Given the description of an element on the screen output the (x, y) to click on. 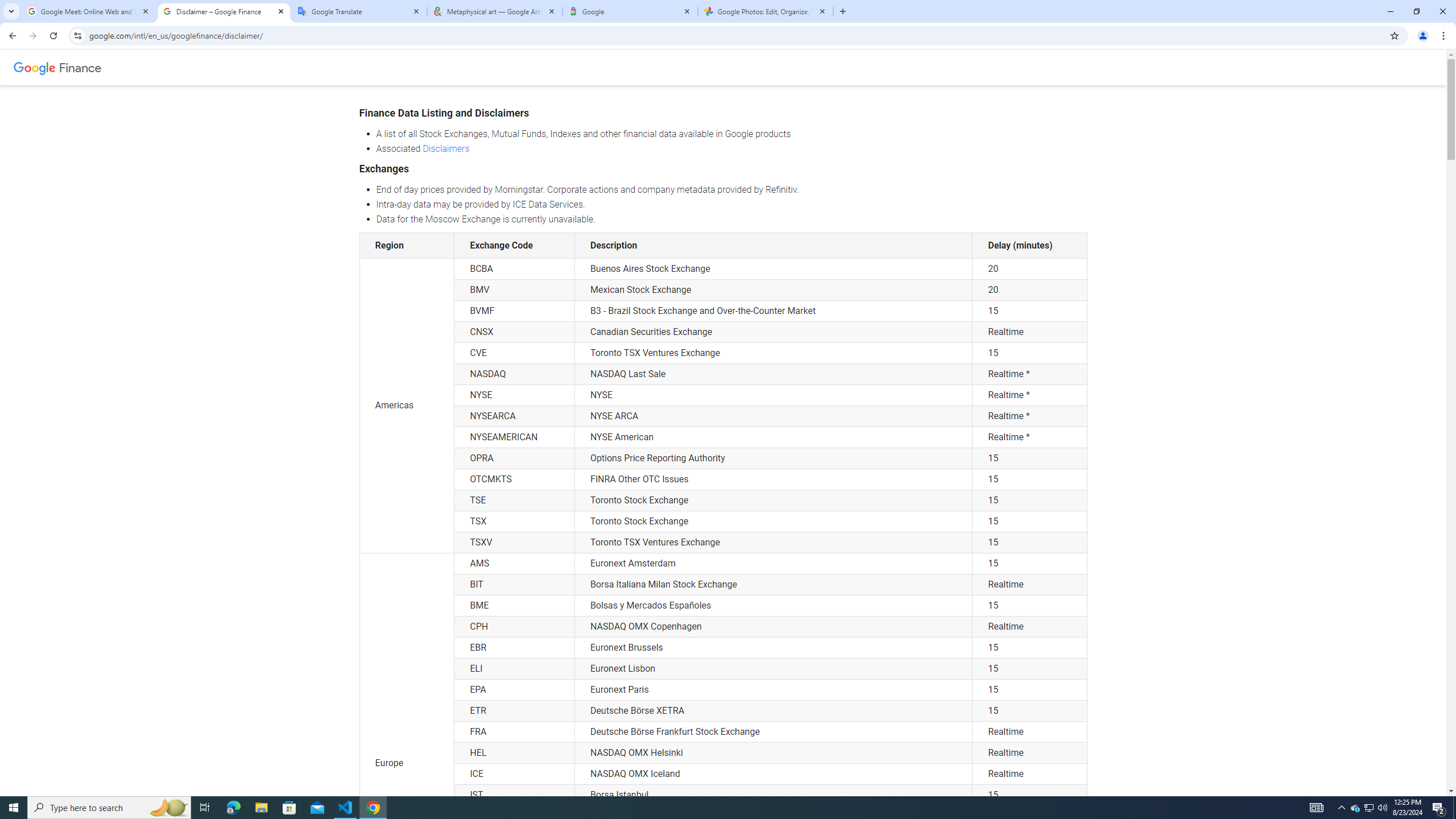
BVMF (514, 310)
Realtime * (1029, 436)
Euronext Lisbon (773, 668)
20 (1029, 289)
Toronto TSX Ventures Exchange (773, 542)
BCBA (514, 268)
IST (514, 794)
BME (514, 605)
TSE (514, 500)
